Given the description of an element on the screen output the (x, y) to click on. 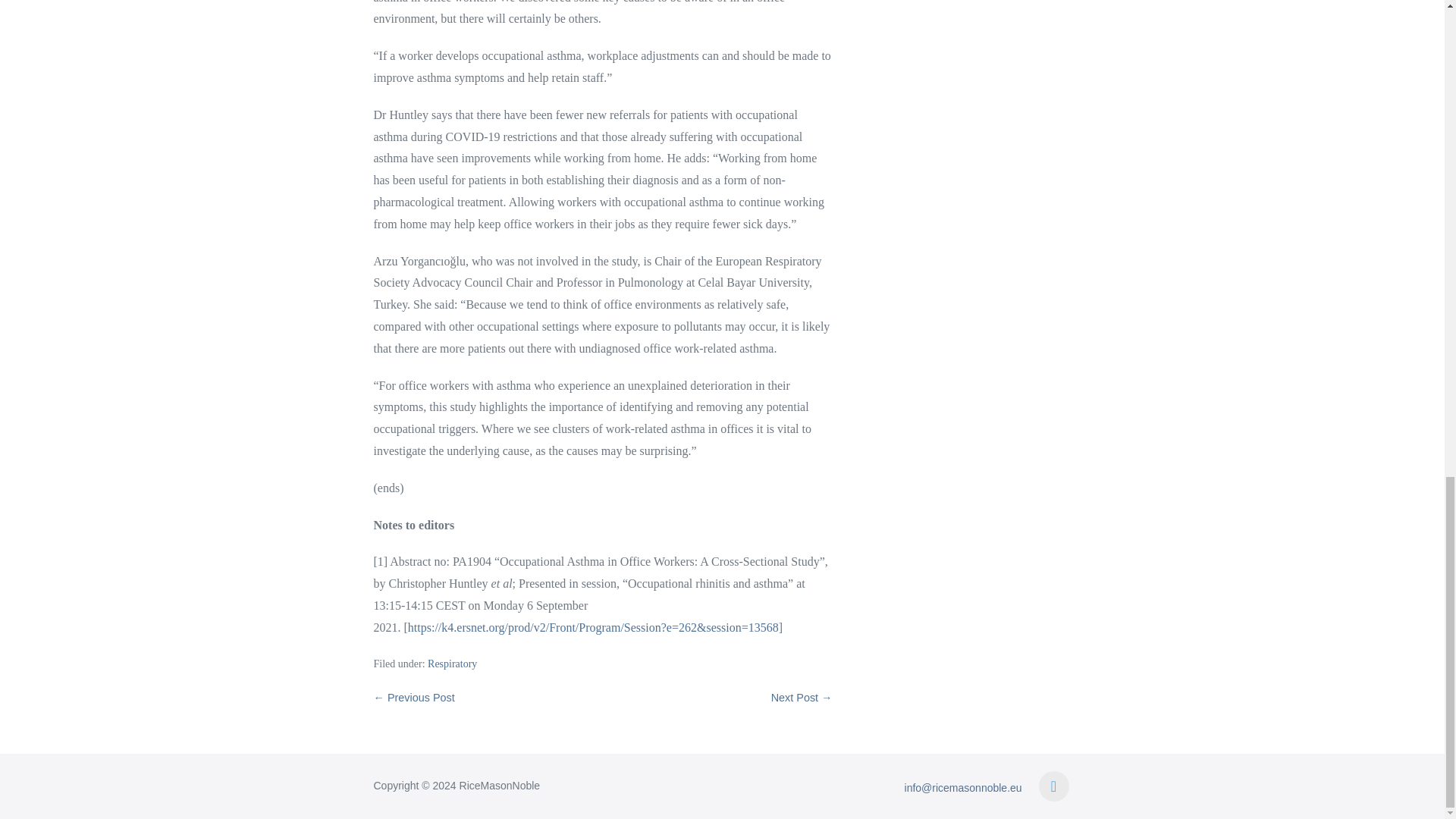
Respiratory (452, 663)
Twitter (1053, 786)
